Given the description of an element on the screen output the (x, y) to click on. 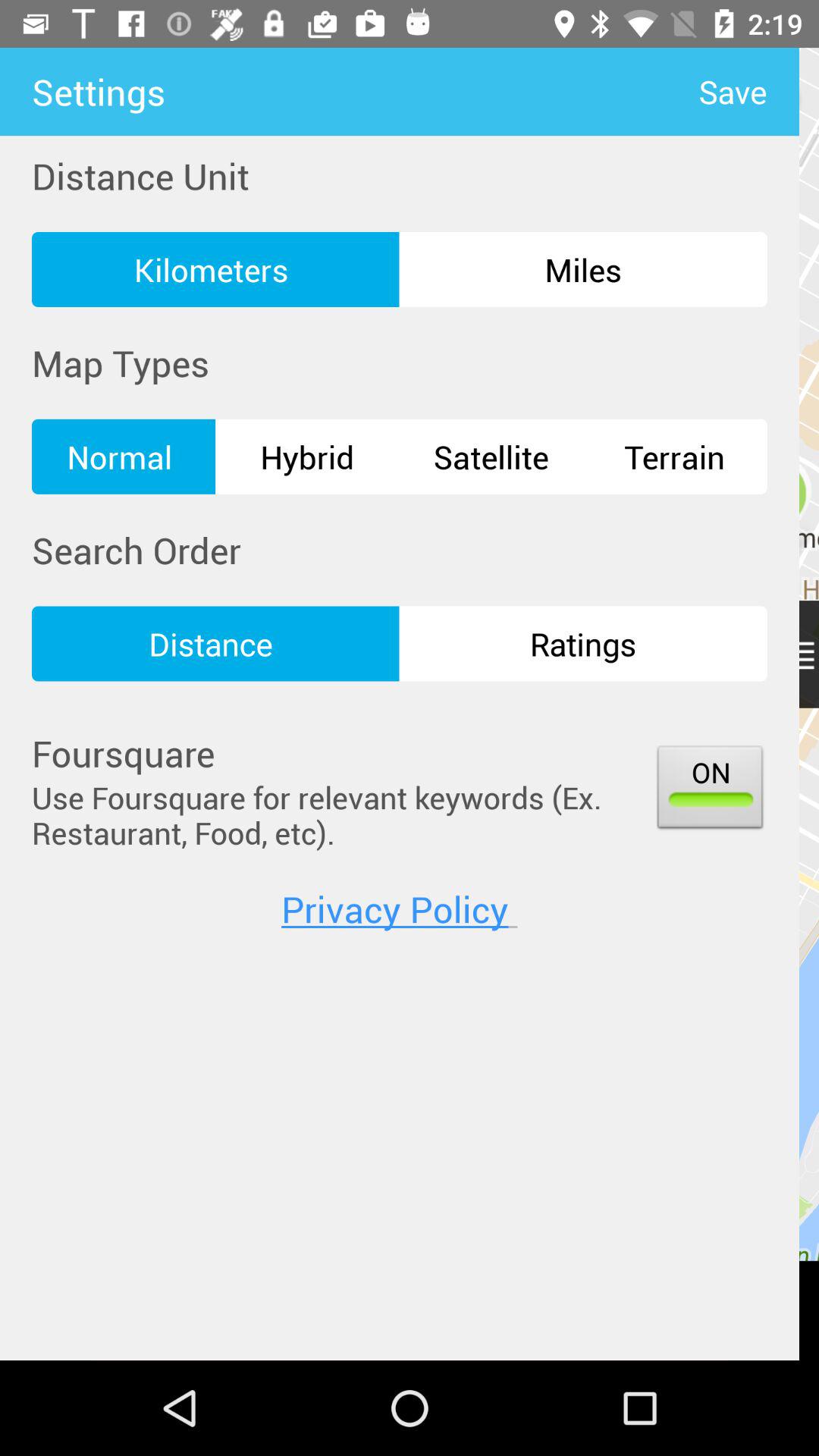
turn off icon above hybrid icon (583, 269)
